Given the description of an element on the screen output the (x, y) to click on. 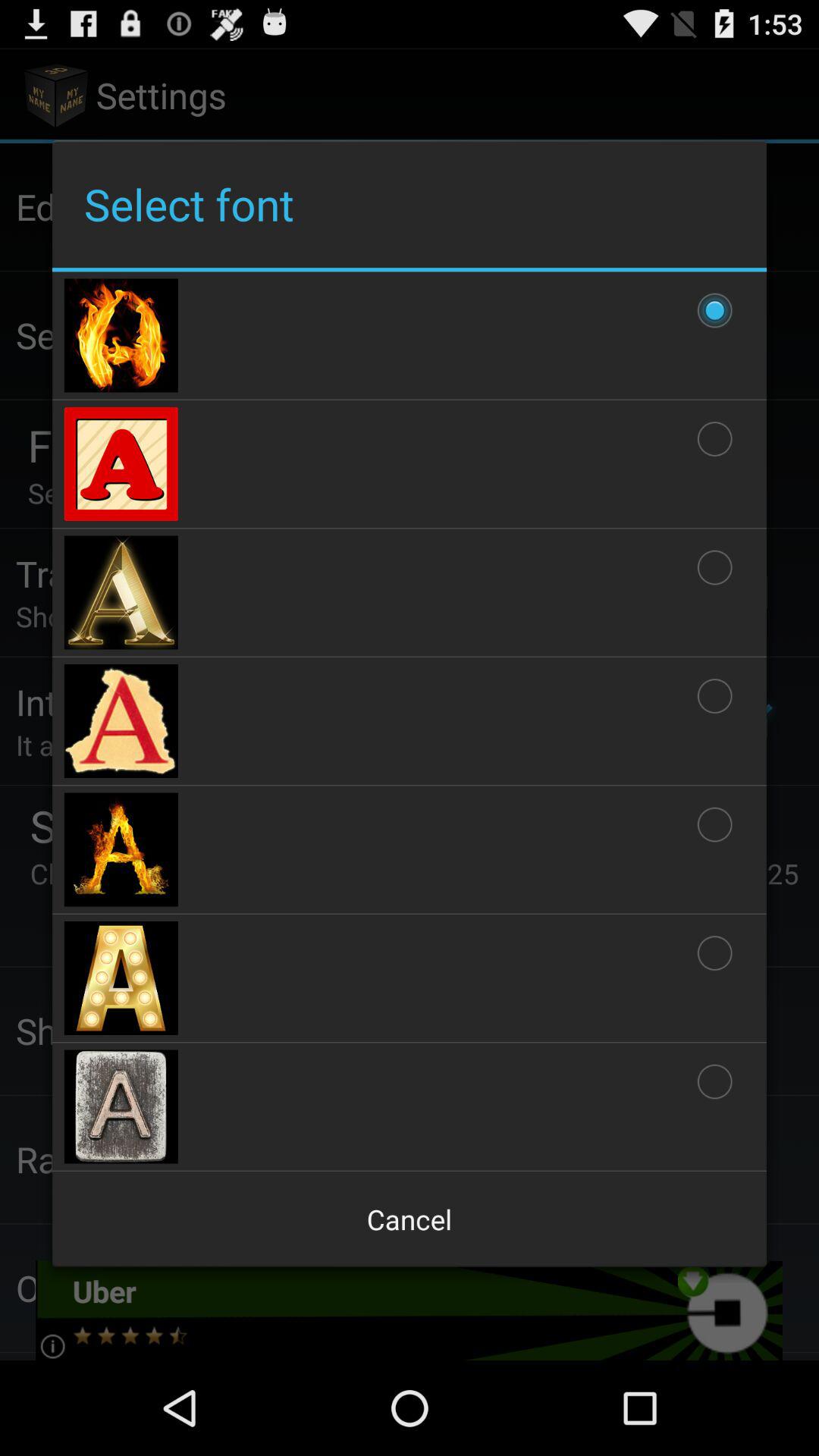
choose button at the bottom (409, 1219)
